Given the description of an element on the screen output the (x, y) to click on. 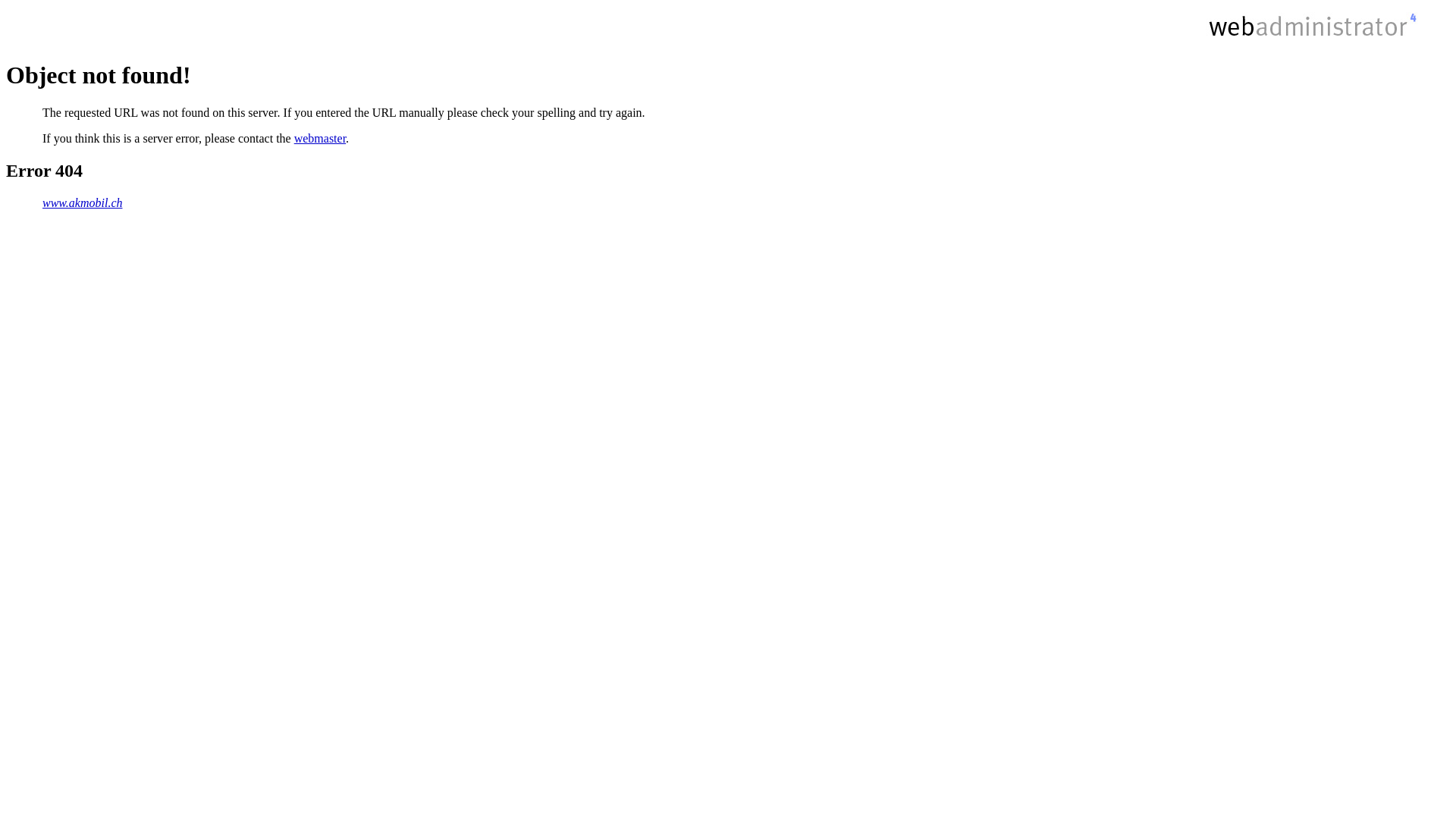
www.akmobil.ch Element type: text (82, 202)
webmaster Element type: text (319, 137)
